Given the description of an element on the screen output the (x, y) to click on. 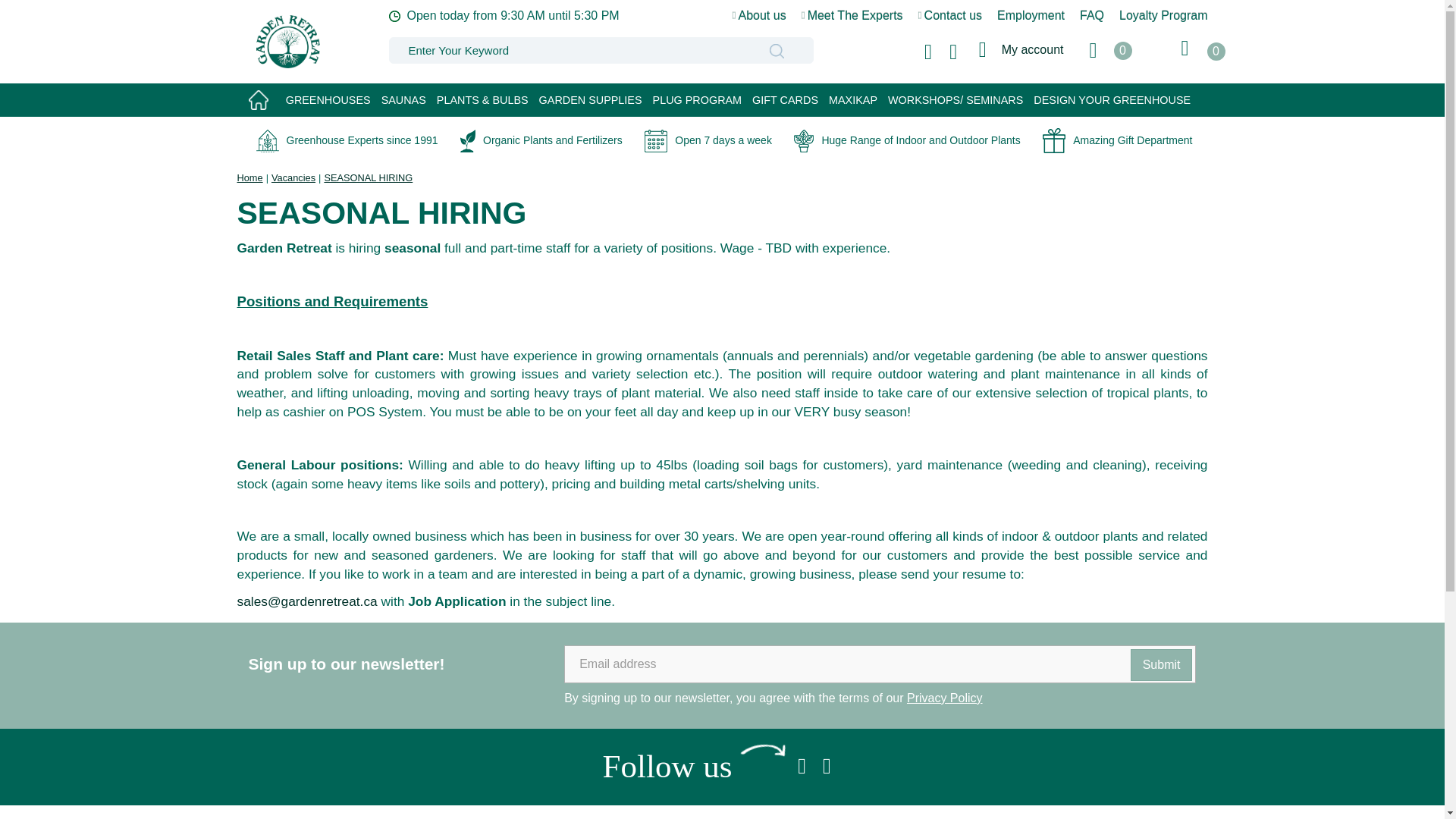
Greenhouses (328, 100)
My account (1021, 49)
Home (248, 178)
GREENHOUSES (328, 100)
Loyalty Program (1163, 15)
SEASONAL HIRING (367, 178)
Go to the wishlist (1106, 53)
FAQ (1091, 15)
SEASONAL HIRING (367, 178)
About us (759, 15)
